Given the description of an element on the screen output the (x, y) to click on. 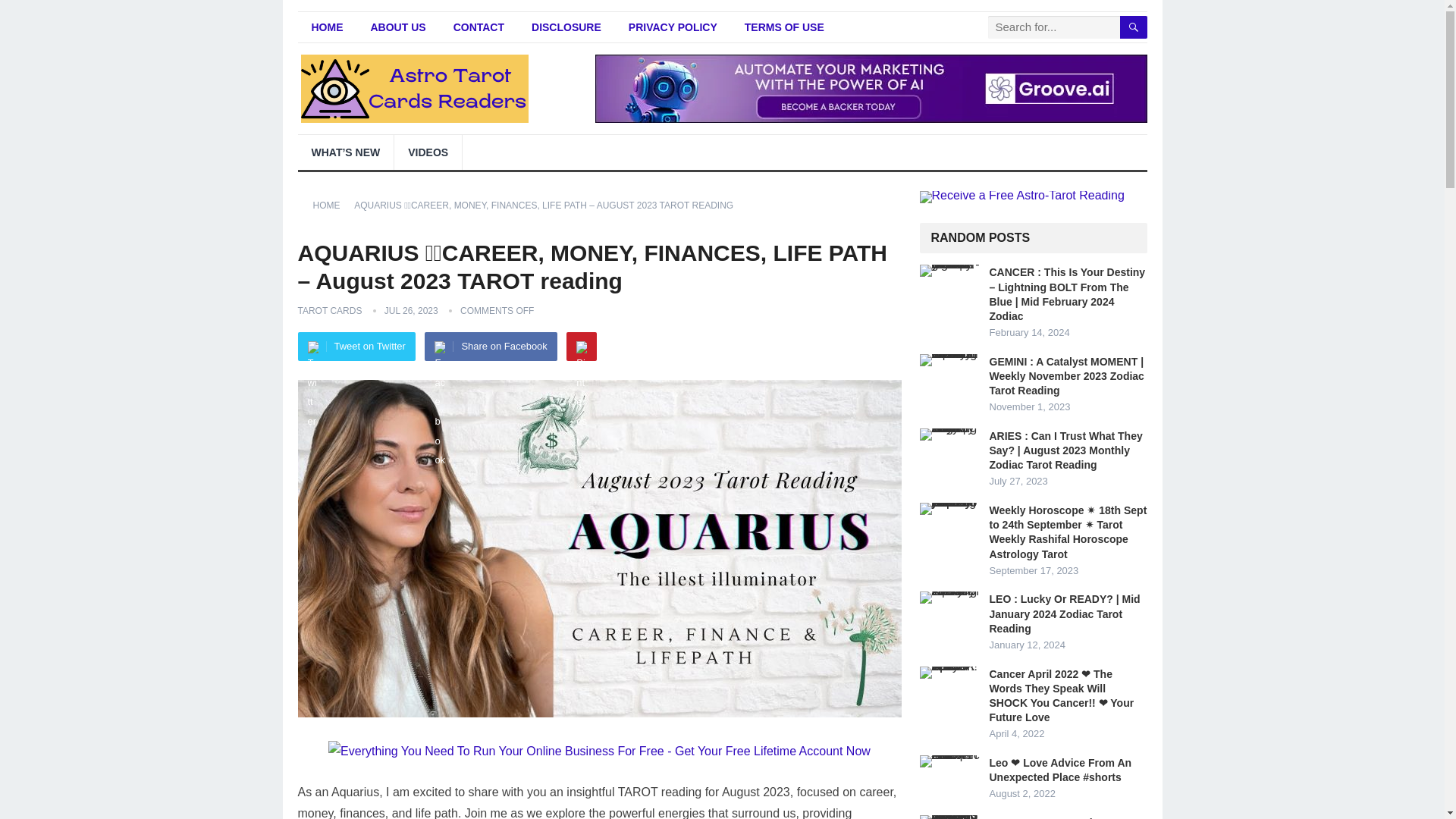
TERMS OF USE (784, 27)
ABOUT US (397, 27)
DISCLOSURE (566, 27)
CONTACT (478, 27)
VIDEOS (427, 152)
TAROT CARDS (329, 310)
PRIVACY POLICY (672, 27)
Posts by Tarot Cards (329, 310)
Tweet on Twitter (355, 346)
Pinterest (581, 346)
